Given the description of an element on the screen output the (x, y) to click on. 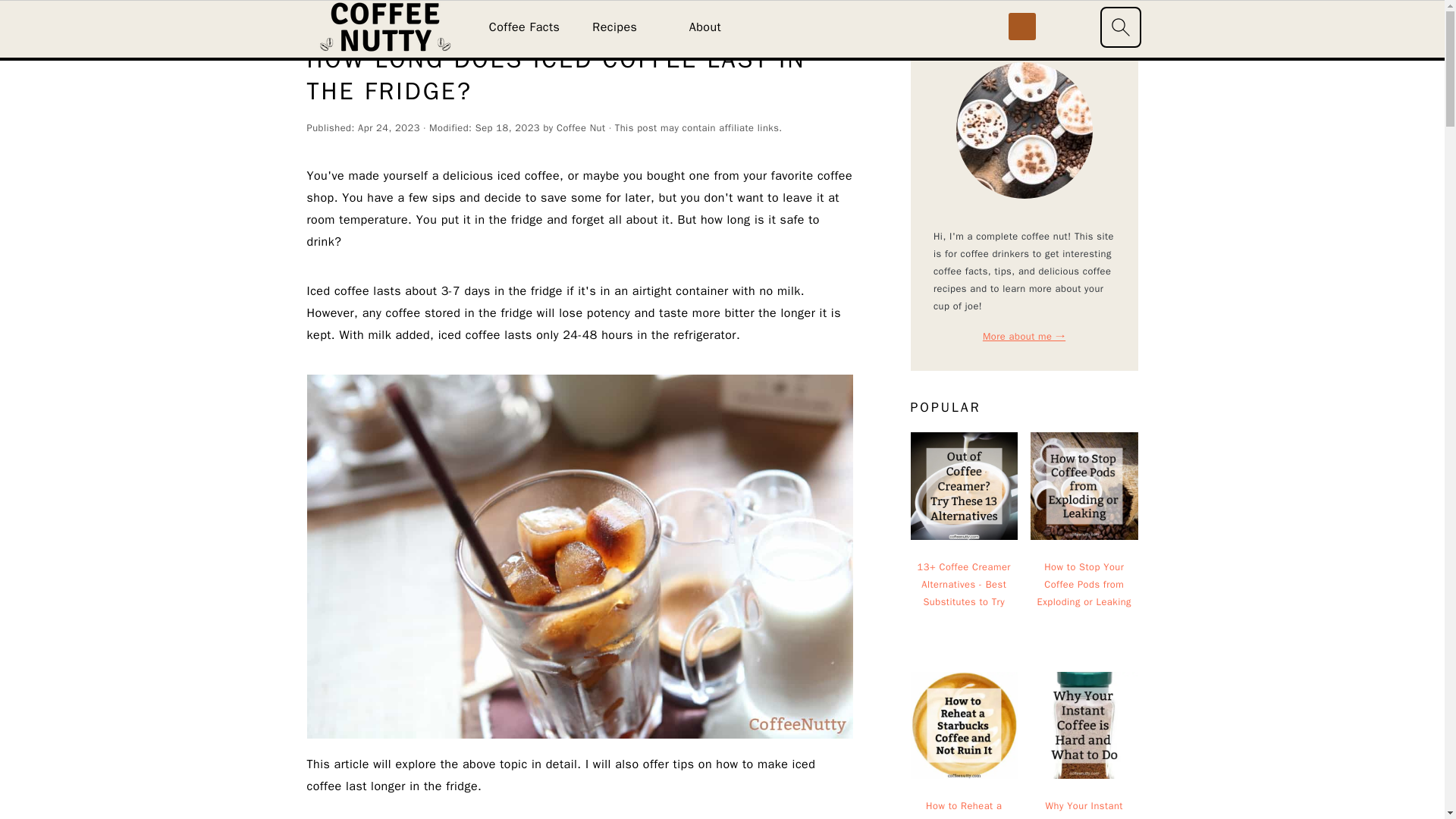
General Info (371, 23)
About (704, 27)
Recipes (614, 27)
Home (319, 23)
search icon (1119, 26)
Coffee Facts (524, 27)
